Given the description of an element on the screen output the (x, y) to click on. 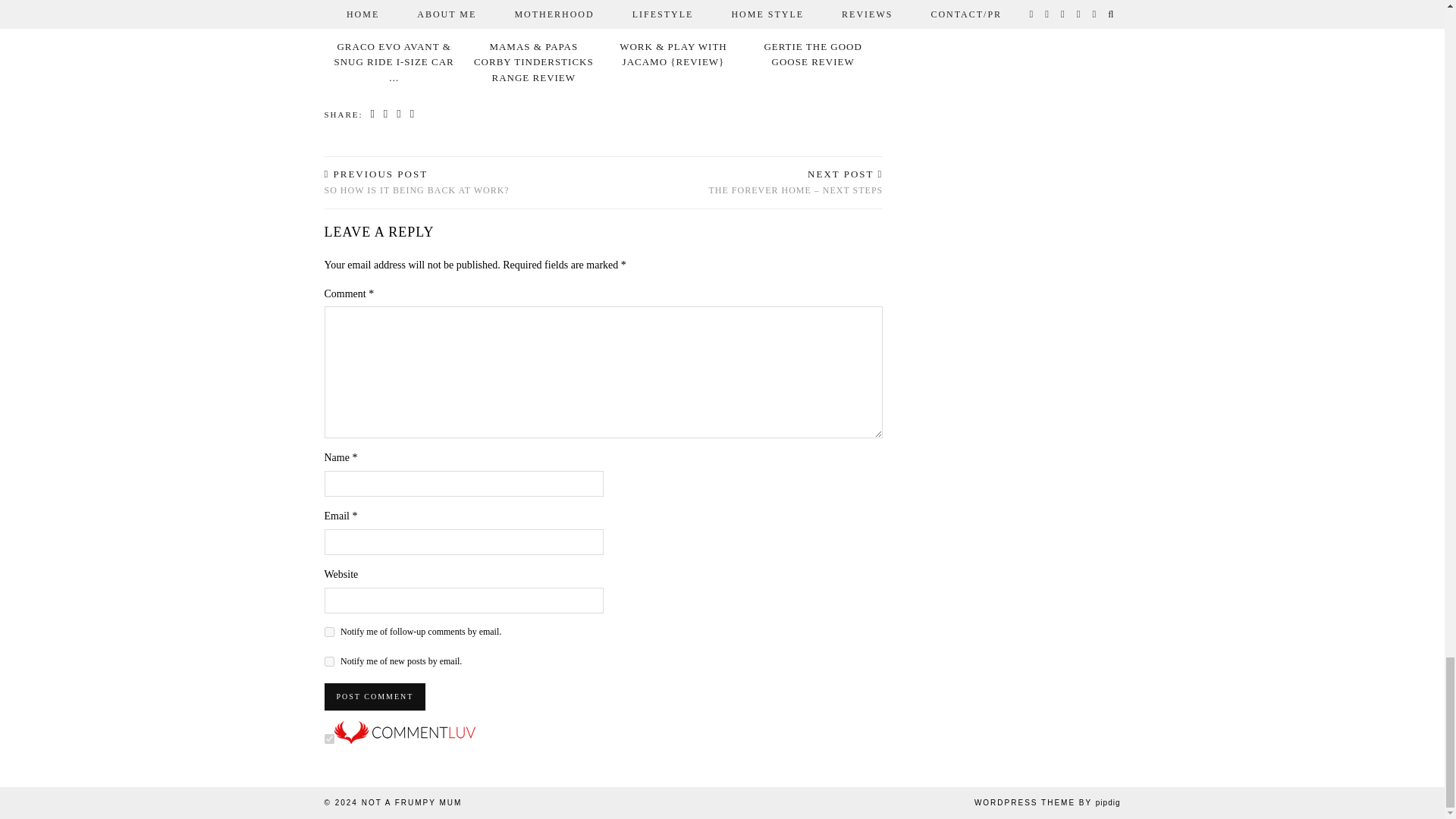
on (329, 738)
subscribe (329, 661)
Post Comment (375, 696)
subscribe (329, 632)
